Given the description of an element on the screen output the (x, y) to click on. 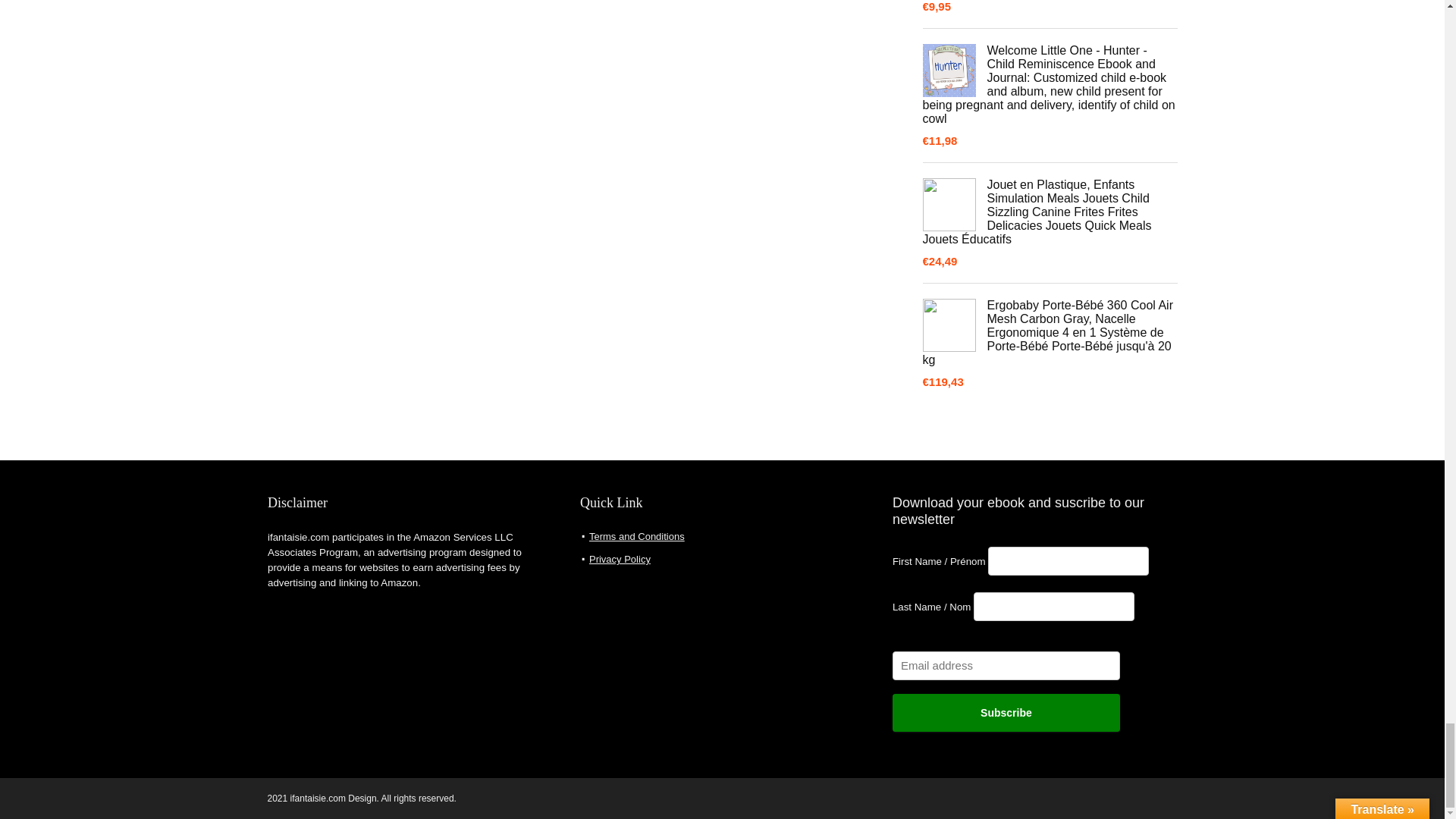
Subscribe (1005, 712)
